Given the description of an element on the screen output the (x, y) to click on. 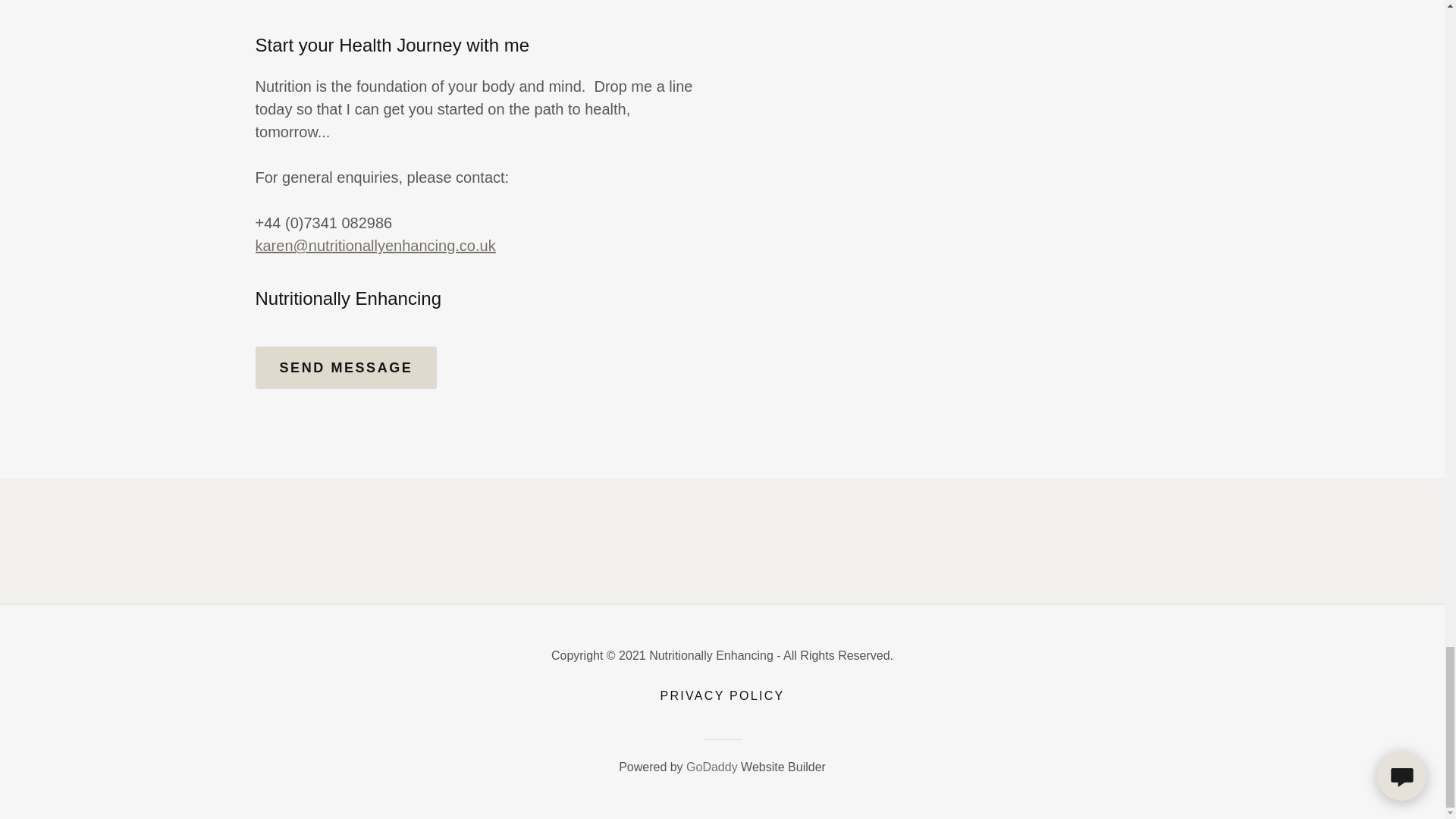
SEND MESSAGE (345, 367)
PRIVACY POLICY (721, 696)
GoDaddy (711, 766)
